Given the description of an element on the screen output the (x, y) to click on. 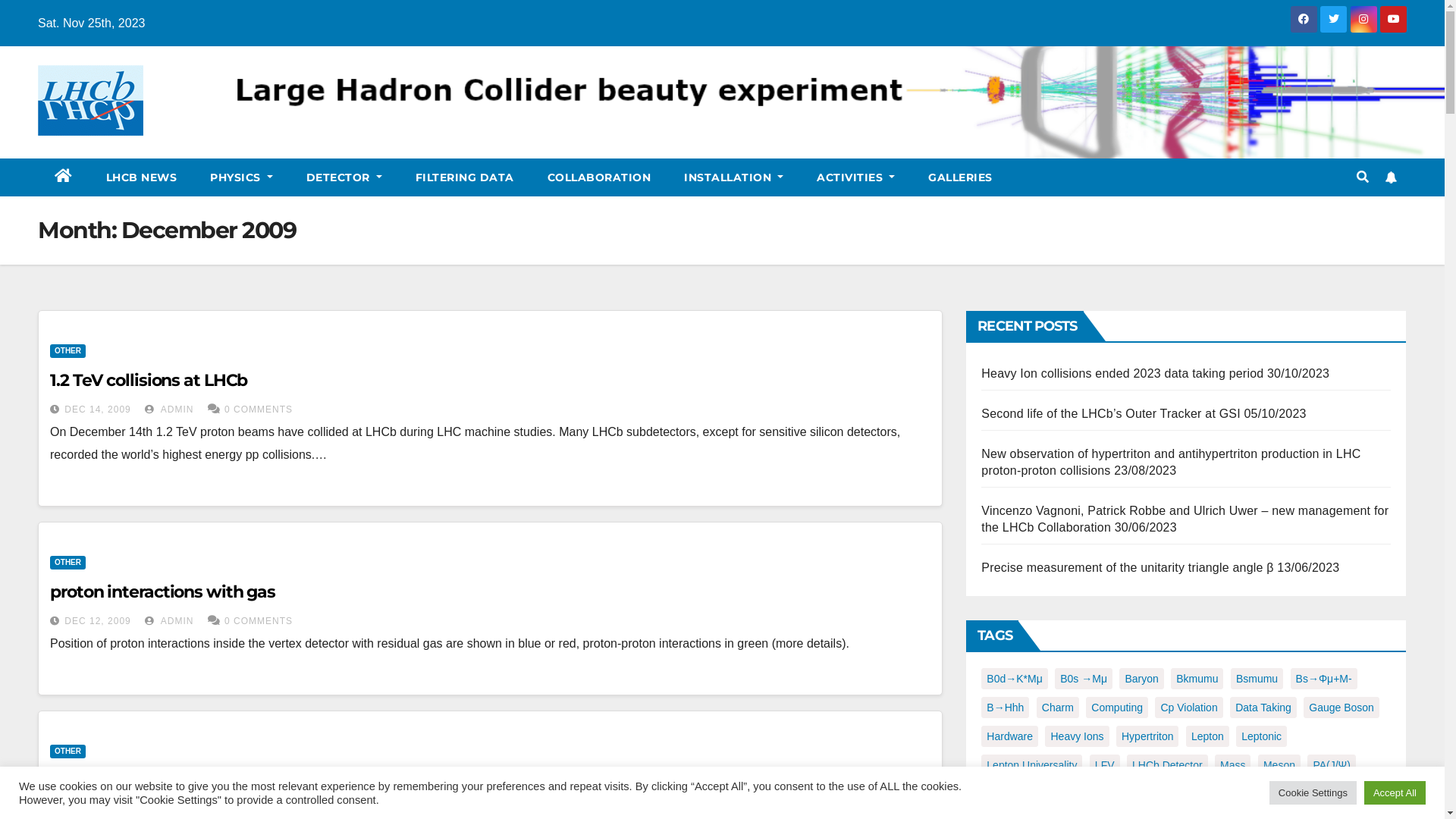
0 COMMENTS Element type: text (258, 620)
DEC 14, 2009 Element type: text (97, 409)
DEC 12, 2009 Element type: text (97, 809)
ADMIN Element type: text (168, 409)
K0 reconstruction Element type: text (120, 780)
Accept All Element type: text (1394, 792)
OTHER Element type: text (67, 350)
Lepton Element type: text (1207, 735)
0 COMMENTS Element type: text (258, 409)
ADMIN Element type: text (168, 620)
ACTIVITIES Element type: text (855, 177)
Charm Element type: text (1057, 707)
R(/\C+) Element type: text (1119, 793)
ADMIN Element type: text (168, 809)
OTHER Element type: text (67, 562)
Baryon Element type: text (1141, 678)
Hypertriton Element type: text (1147, 735)
Leptonic Element type: text (1261, 735)
Cookie Settings Element type: text (1312, 792)
Cp Violation Element type: text (1188, 707)
RK Element type: text (1295, 793)
LHCB NEWS Element type: text (141, 177)
Heavy Ions Element type: text (1076, 735)
COLLABORATION Element type: text (599, 177)
LHCb Detector Element type: text (1167, 764)
Gauge Boson Element type: text (1341, 707)
RTA Element type: text (1367, 793)
Hardware Element type: text (1009, 735)
R(D*) Element type: text (1207, 793)
DEC 12, 2009 Element type: text (97, 620)
PHe Element type: text (1073, 793)
Pentaquarks Element type: text (1016, 793)
Lepton Universality Element type: text (1031, 764)
PHYSICS Element type: text (241, 177)
Heavy Ion collisions ended 2023 data taking period Element type: text (1122, 373)
OTHER Element type: text (67, 751)
0 COMMENTS Element type: text (258, 809)
Meson Element type: text (1279, 764)
Mass Element type: text (1232, 764)
Data Taking Element type: text (1263, 707)
R(D) Element type: text (1166, 793)
INSTALLATION Element type: text (733, 177)
DETECTOR Element type: text (343, 177)
GALLERIES Element type: text (960, 177)
Bkmumu Element type: text (1196, 678)
1.2 TeV collisions at LHCb Element type: text (148, 380)
Computing Element type: text (1116, 707)
RK* Element type: text (1331, 793)
FILTERING DATA Element type: text (464, 177)
Bsmumu Element type: text (1256, 678)
LFV Element type: text (1104, 764)
proton interactions with gas Element type: text (162, 591)
